Given the description of an element on the screen output the (x, y) to click on. 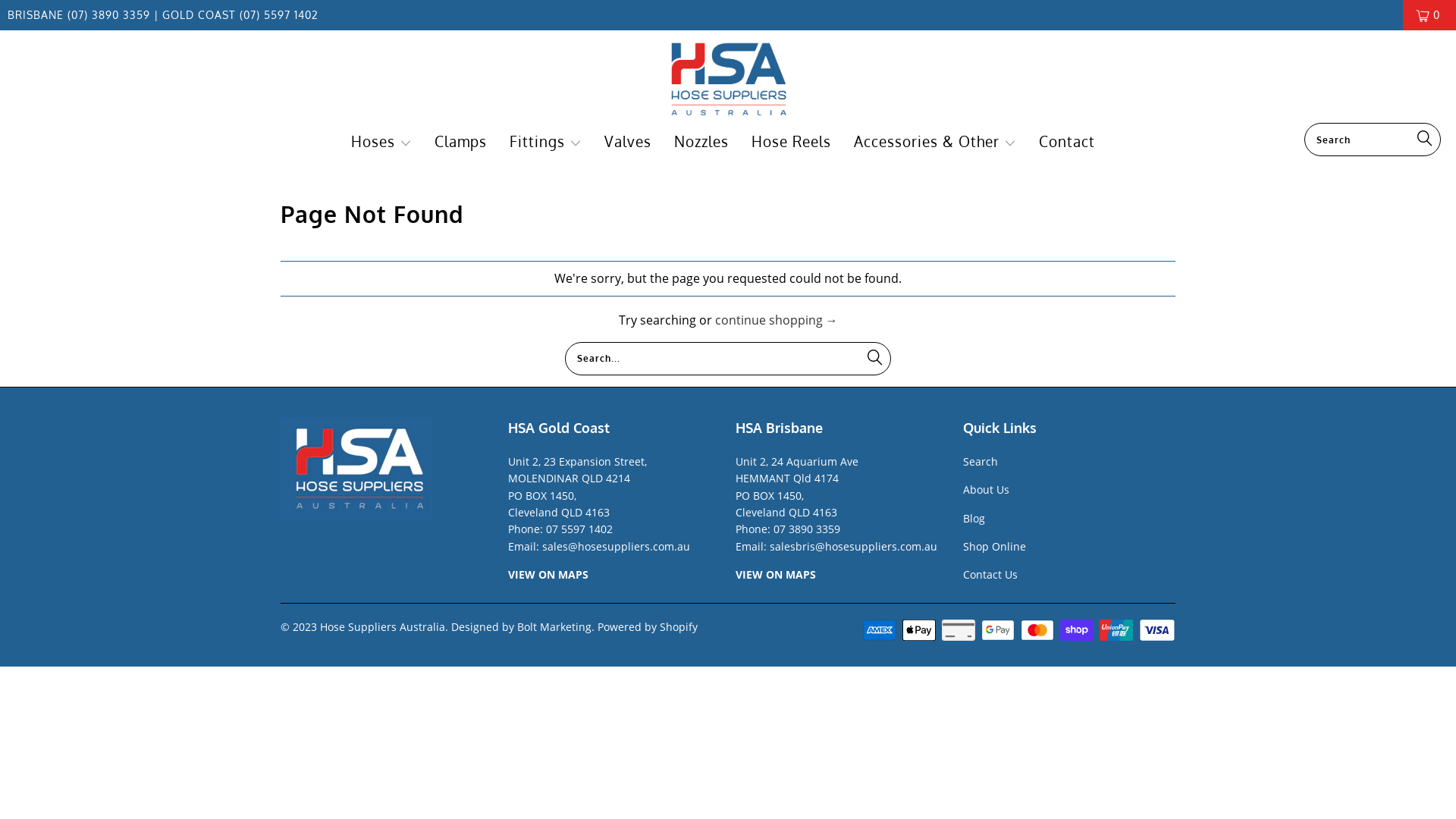
Contact Us Element type: text (990, 574)
Hose Reels Element type: text (791, 141)
Shop Online Element type: text (994, 546)
Hose Suppliers Australia Element type: hover (727, 79)
Clamps Element type: text (460, 141)
Nozzles Element type: text (701, 141)
About Us Element type: text (986, 489)
salesbris@hosesuppliers.com.au Element type: text (853, 546)
VIEW ON MAPS Element type: text (548, 574)
Blog Element type: text (974, 518)
07 3890 3359 Element type: text (806, 528)
Search Element type: text (980, 461)
Hose Suppliers Australia Element type: text (382, 626)
BRISBANE (07) 3890 3359 | Element type: text (82, 14)
Powered by Shopify Element type: text (647, 626)
GOLD COAST (07) 5597 1402 Element type: text (238, 14)
Contact Element type: text (1066, 141)
VIEW ON MAPS Element type: text (775, 574)
07 5597 1402 Element type: text (579, 528)
Valves Element type: text (627, 141)
sales@hosesuppliers.com.au Element type: text (616, 546)
